Given the description of an element on the screen output the (x, y) to click on. 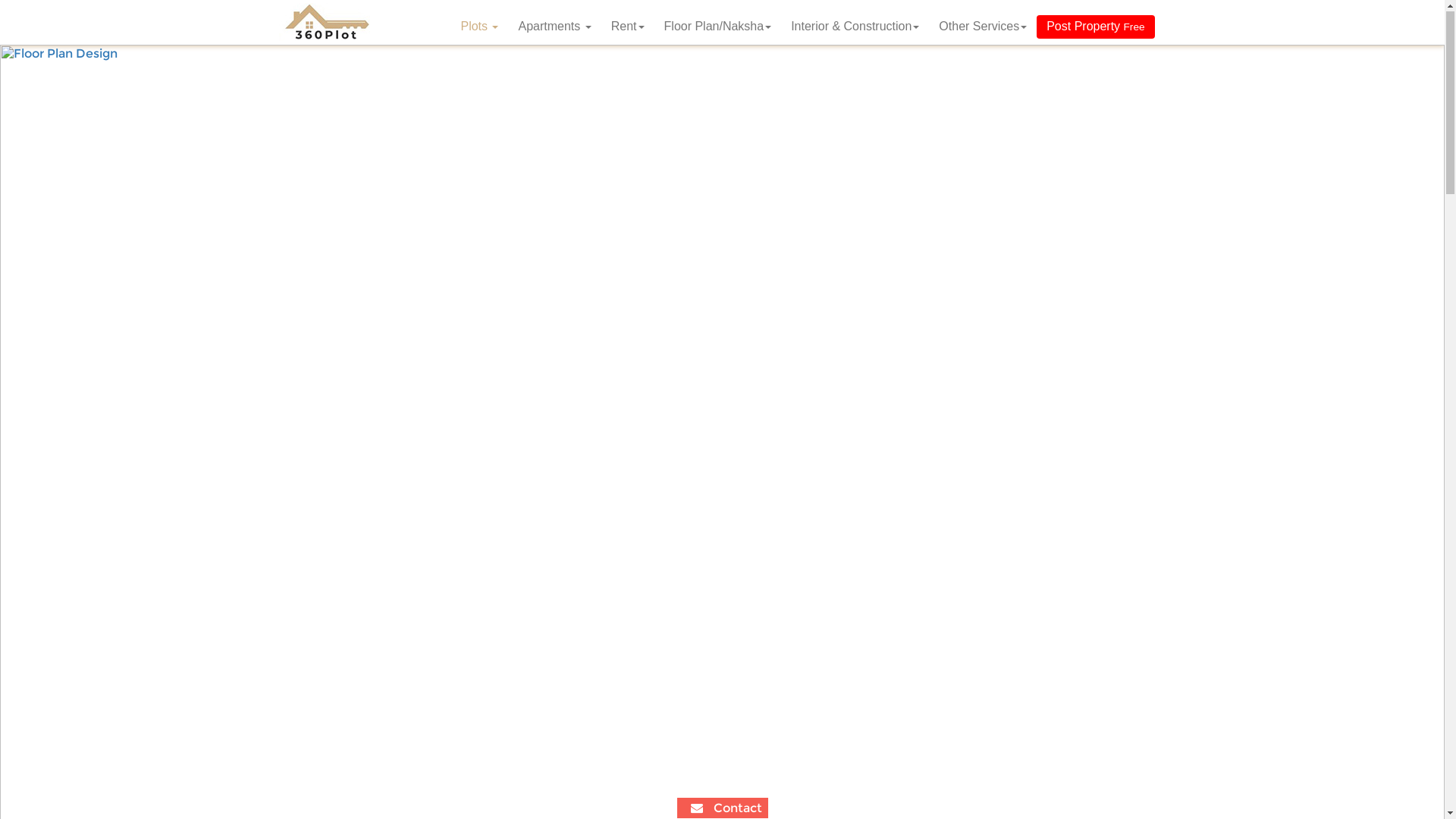
Apartments Element type: text (554, 26)
Other Services Element type: text (982, 26)
Rent Element type: text (627, 26)
Interior & Construction Element type: text (854, 26)
Contact Element type: text (721, 808)
Plots Element type: text (479, 26)
Post Property Free Element type: text (1095, 27)
360plot Element type: hover (326, 22)
Floor Plan/Naksha Element type: text (717, 26)
